Given the description of an element on the screen output the (x, y) to click on. 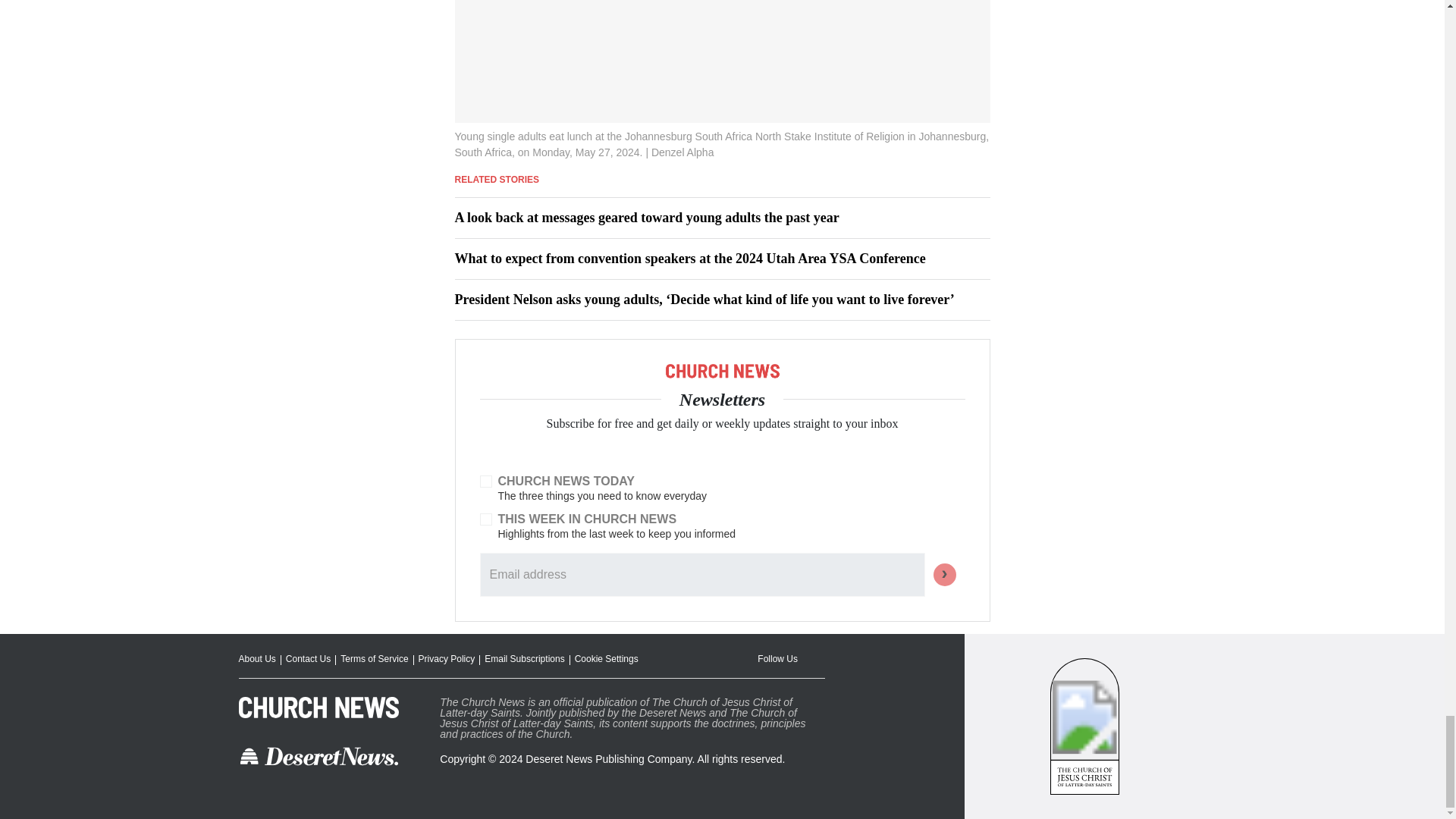
This Week in Church News (485, 519)
Church News Today (485, 481)
